Given the description of an element on the screen output the (x, y) to click on. 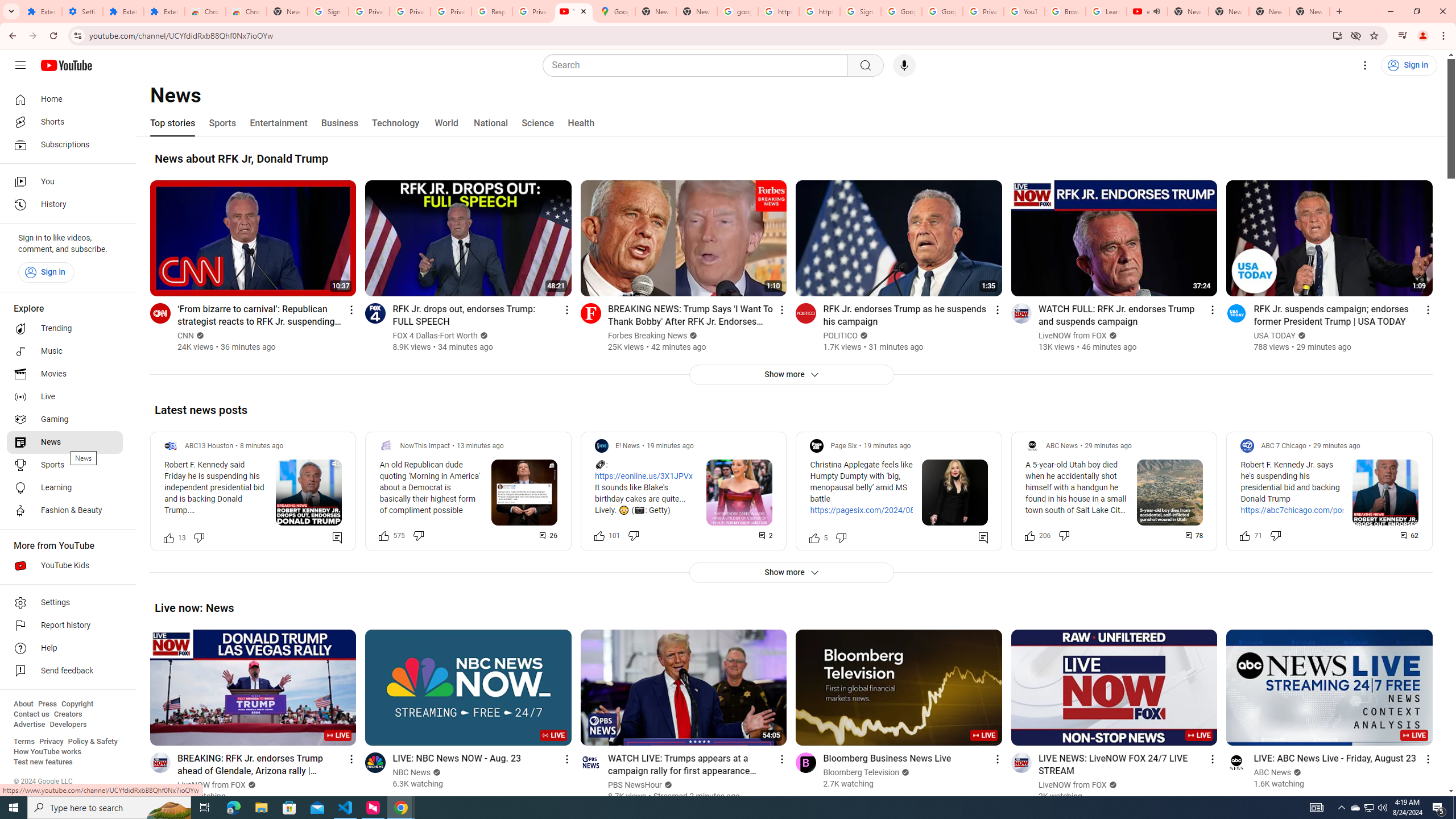
Like this post along with 5 other people (814, 537)
29 minutes ago (1336, 445)
YouTube (1023, 11)
USA TODAY (1275, 335)
Show more (790, 572)
Advertise (29, 724)
Dislike this post (1275, 534)
Copyright (77, 703)
Chrome Web Store (205, 11)
Terms (23, 741)
Press (46, 703)
https://eonline.us/3X1JPVx (643, 476)
Third-party cookies blocked (1355, 35)
